Given the description of an element on the screen output the (x, y) to click on. 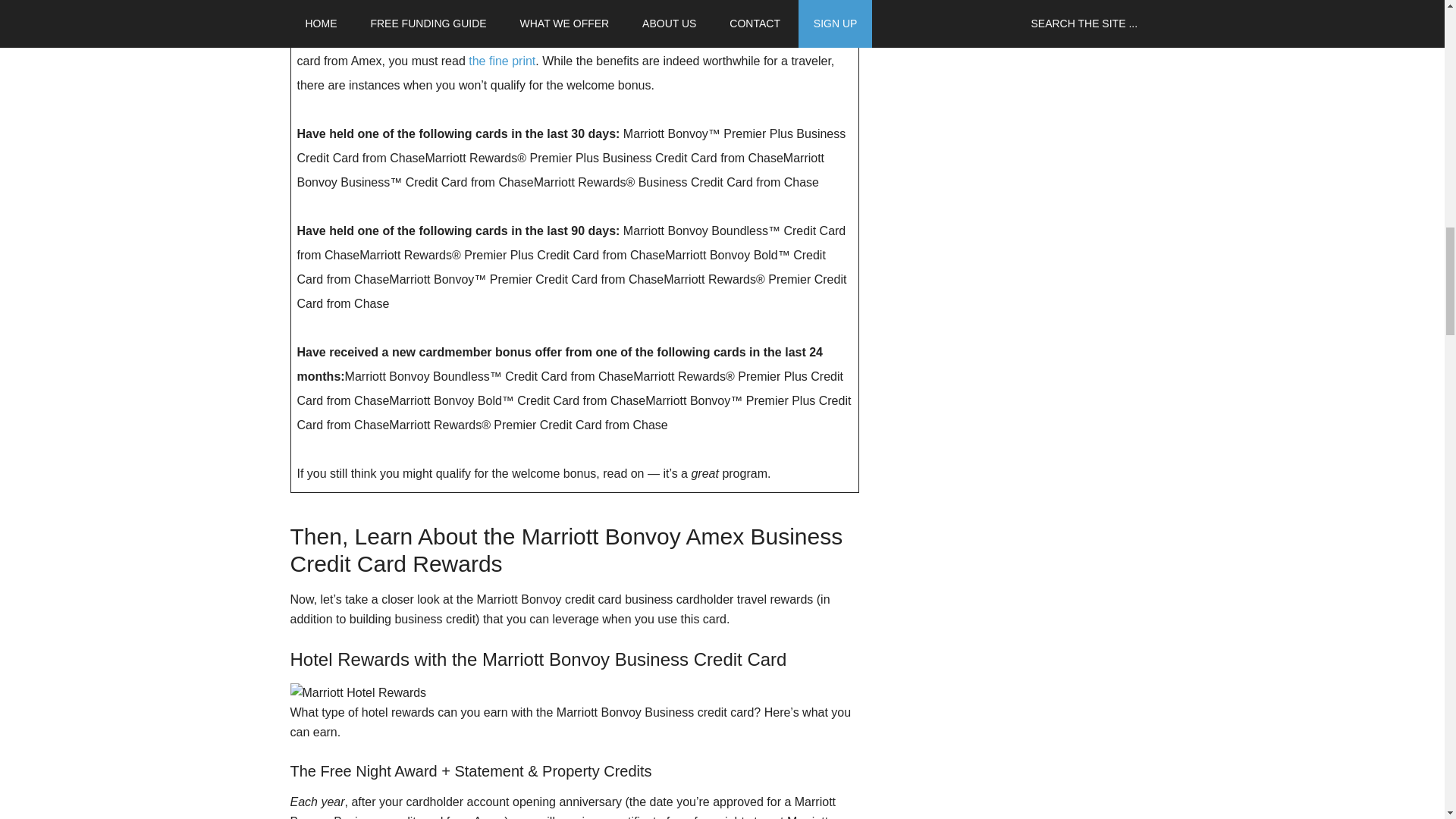
the fine print (501, 60)
